Given the description of an element on the screen output the (x, y) to click on. 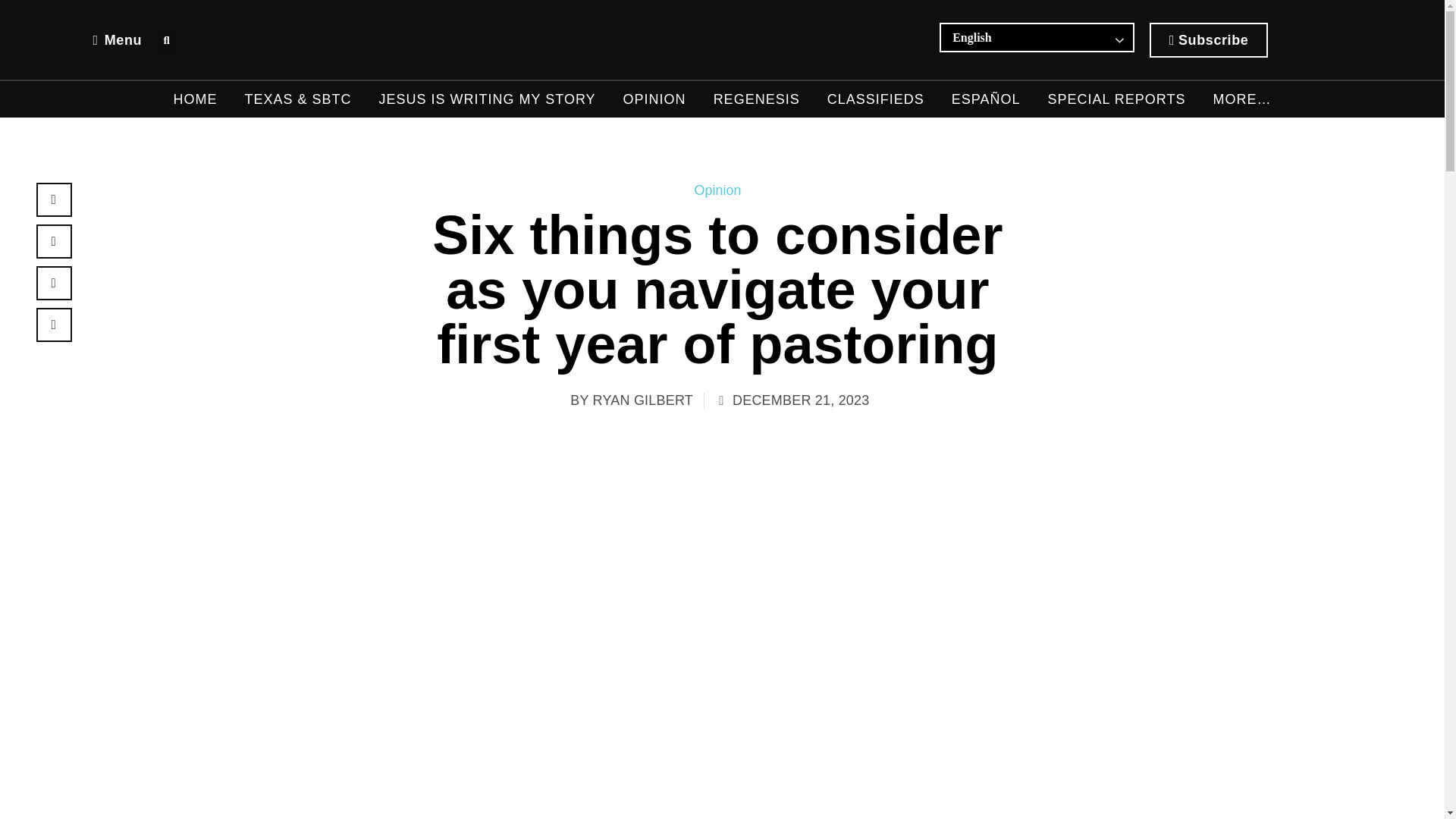
SPECIAL REPORTS (1115, 99)
OPINION (654, 99)
Menu (117, 39)
REGENESIS (756, 99)
JESUS IS WRITING MY STORY (486, 99)
Subscribe (1209, 39)
CLASSIFIEDS (875, 99)
English (1013, 37)
HOME (194, 99)
